Given the description of an element on the screen output the (x, y) to click on. 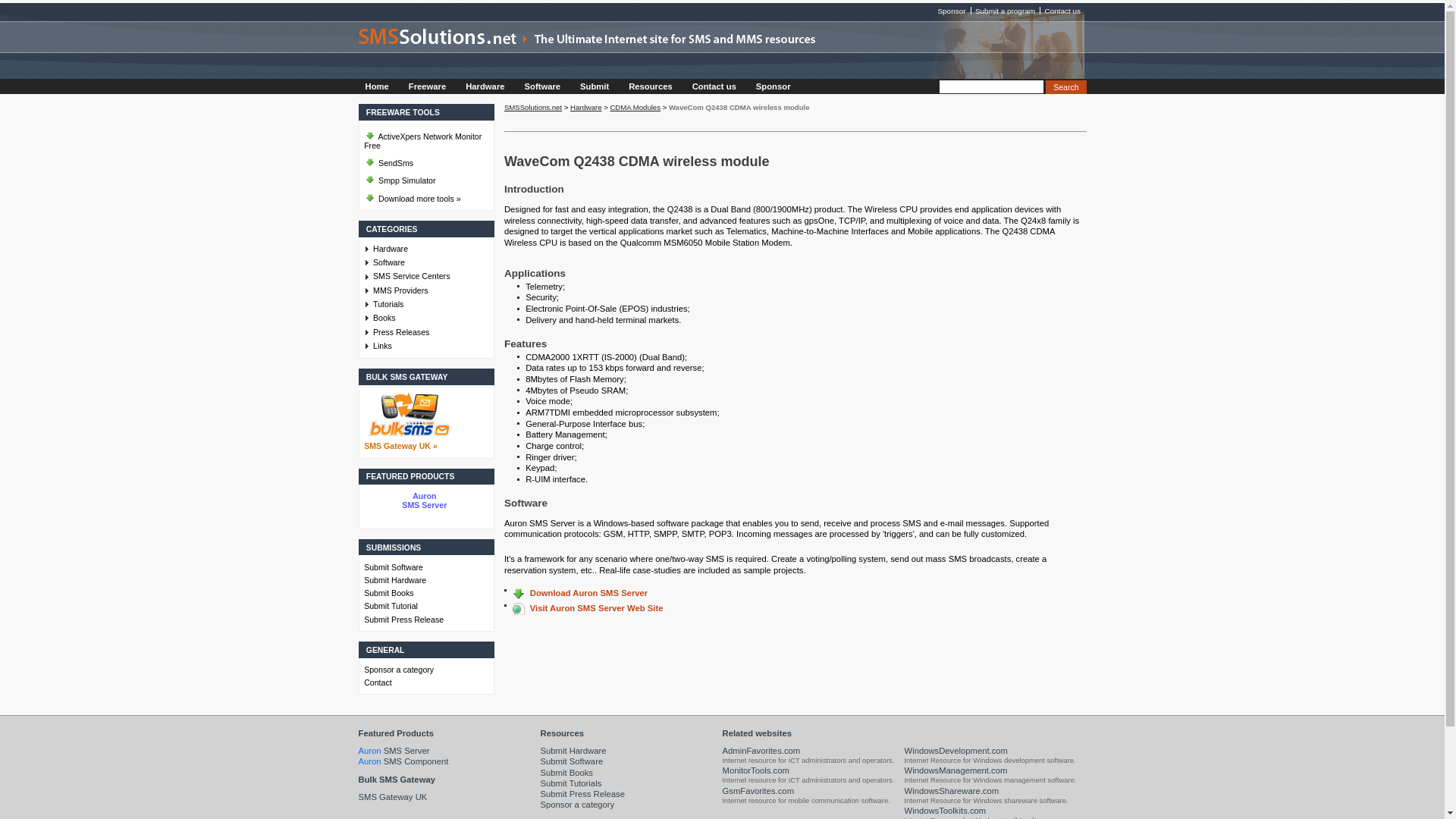
Sponsor (774, 86)
Resources (651, 86)
Contact us (715, 86)
Search (1065, 87)
Search (1065, 87)
 SendSms (424, 160)
Hardware (485, 86)
Submit a program (1004, 10)
 ActiveXpers Network Monitor Free (424, 138)
 Smpp Simulator (424, 178)
SmsSolutions.net home page (722, 50)
Hardware (429, 248)
Freeware (427, 86)
Home (377, 86)
Software (542, 86)
